Given the description of an element on the screen output the (x, y) to click on. 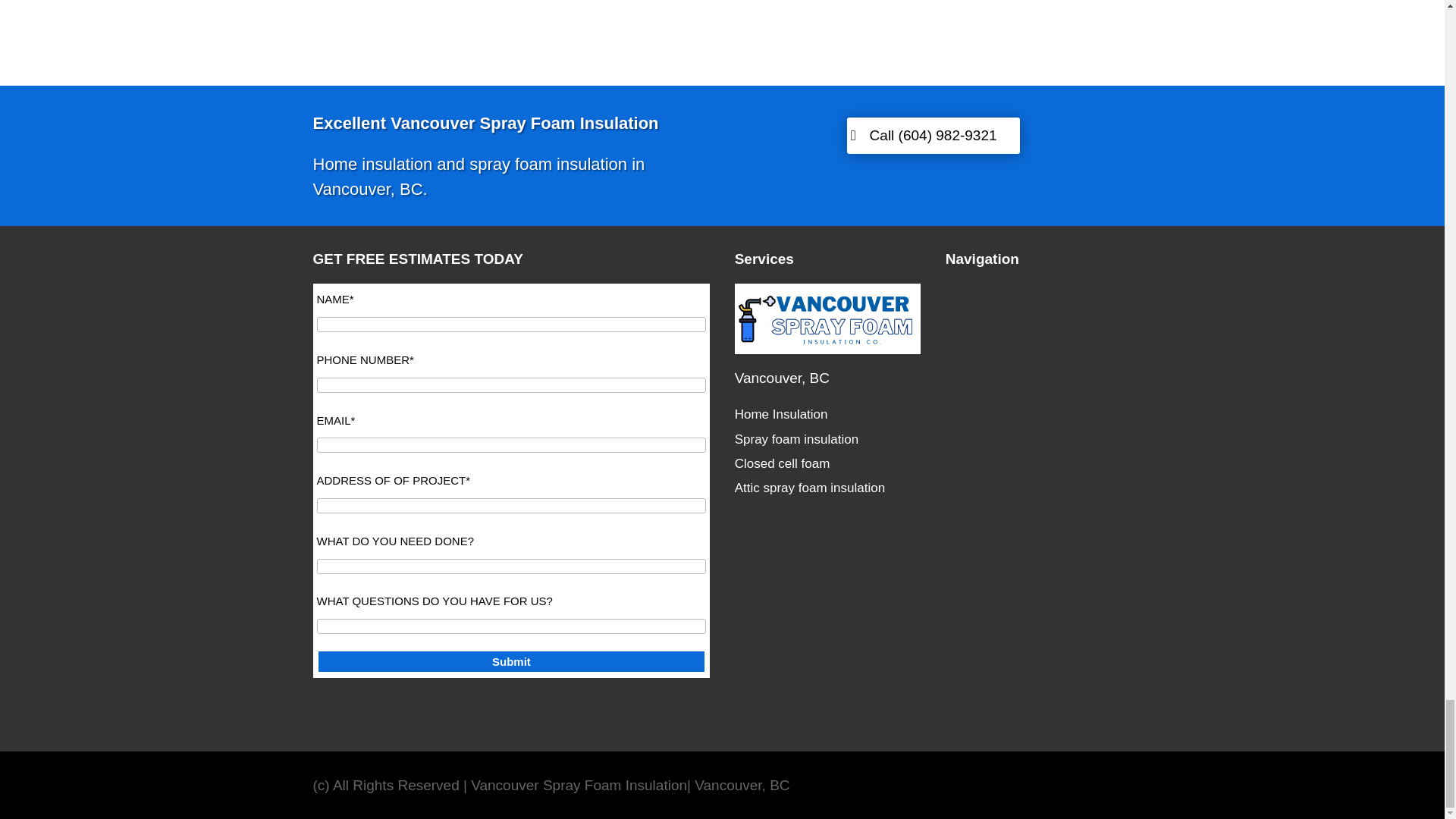
Submit (511, 661)
vancouver-spray-foam-insulation-co-logo (828, 317)
Submit (511, 661)
